Given the description of an element on the screen output the (x, y) to click on. 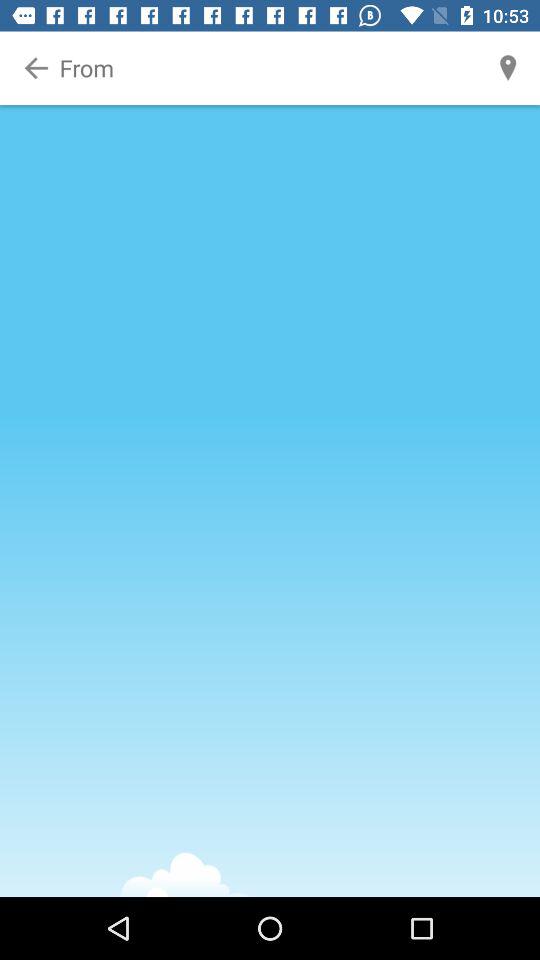
new search (271, 68)
